Given the description of an element on the screen output the (x, y) to click on. 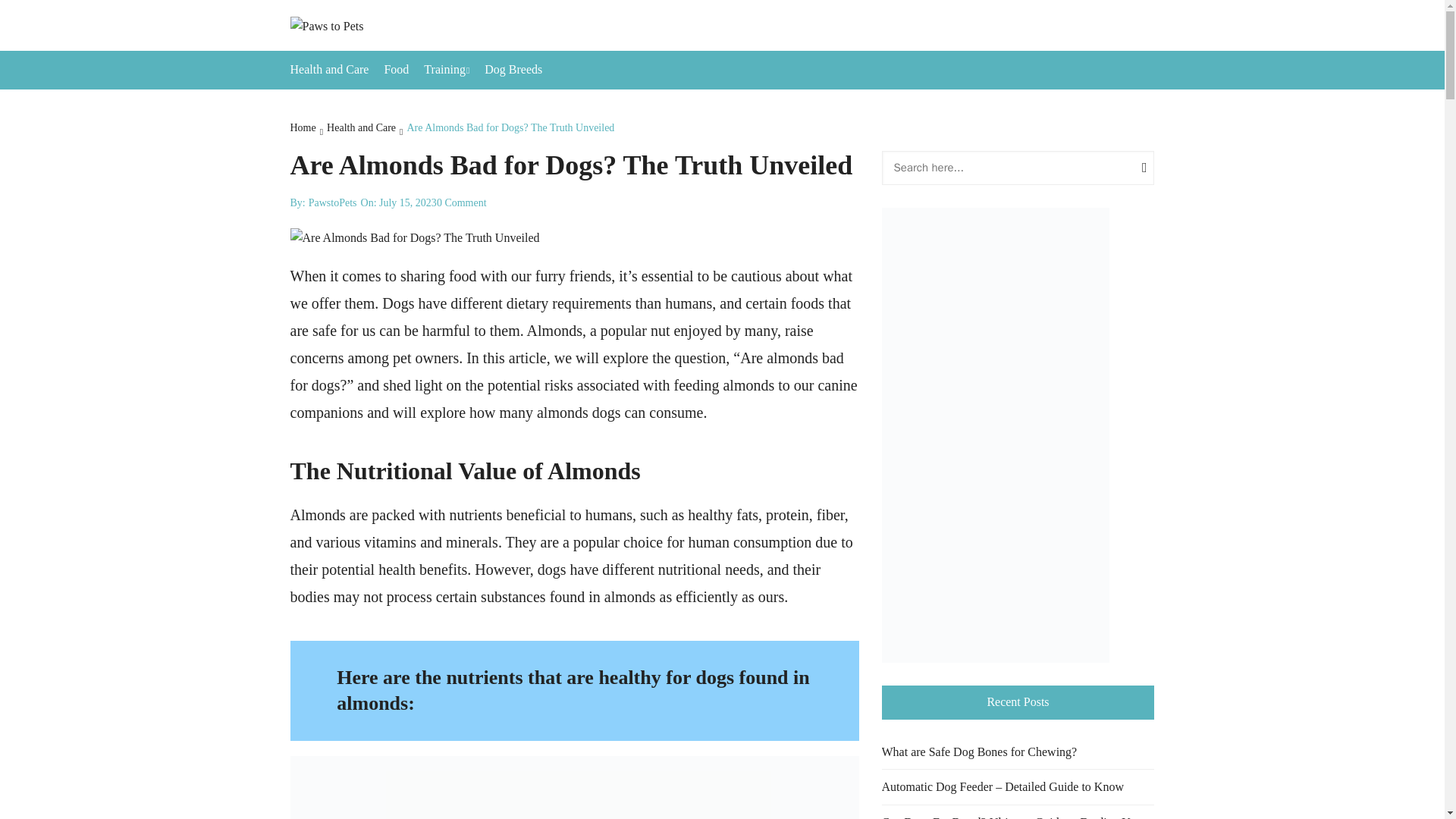
What are Safe Dog Bones for Chewing? (978, 752)
Dog Breeds (520, 69)
PawstoPets (332, 202)
July 15, 2023 (407, 202)
Training (453, 69)
Health and Care (366, 129)
Home (307, 129)
Can Dogs Eat Bread? Ultimate Guide to Feeding Your Dog Bread (1017, 816)
Food (403, 69)
Behavioral (517, 106)
